Given the description of an element on the screen output the (x, y) to click on. 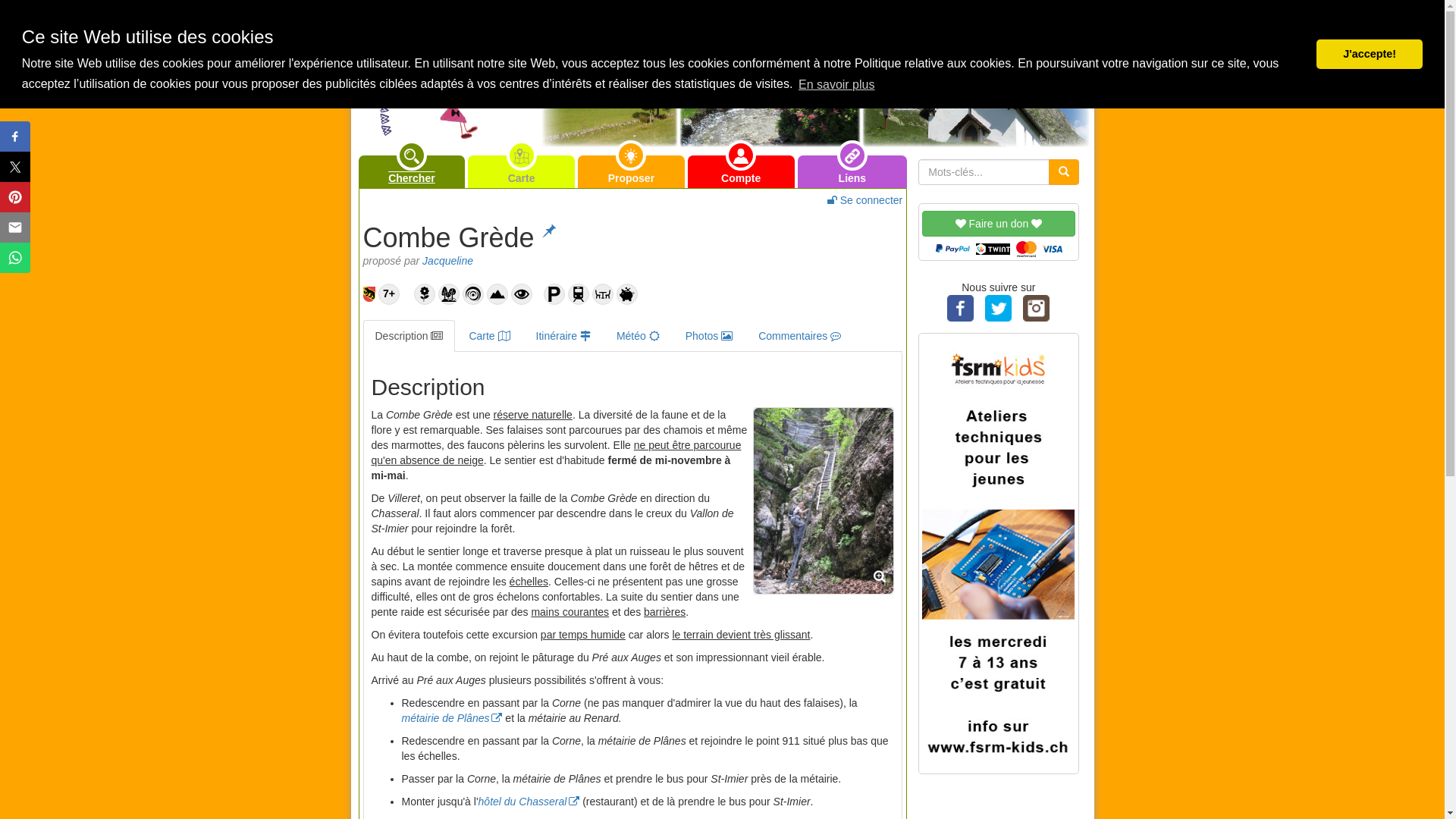
Description Element type: text (408, 335)
Se connecter Element type: text (864, 199)
Carte Element type: text (520, 171)
Chercher Element type: text (410, 171)
Proposer Element type: text (630, 171)
Jacqueline Element type: text (447, 260)
En savoir plus Element type: text (836, 83)
Suivre balades-en-famille.ch sur twitter Element type: hover (998, 307)
Photos Element type: text (708, 335)
Compte Element type: text (740, 171)
7+ Element type: text (388, 293)
Liens Element type: text (852, 171)
J'accepte! Element type: text (1369, 54)
Suivre balades-en-famille.ch sur facebook Element type: hover (960, 307)
Commentaires Element type: text (799, 335)
Faire un don Element type: text (998, 233)
Faire un don Element type: text (998, 223)
Suivre balades-en-famille.ch sur instagram Element type: hover (1036, 307)
Carte Element type: text (488, 335)
